Given the description of an element on the screen output the (x, y) to click on. 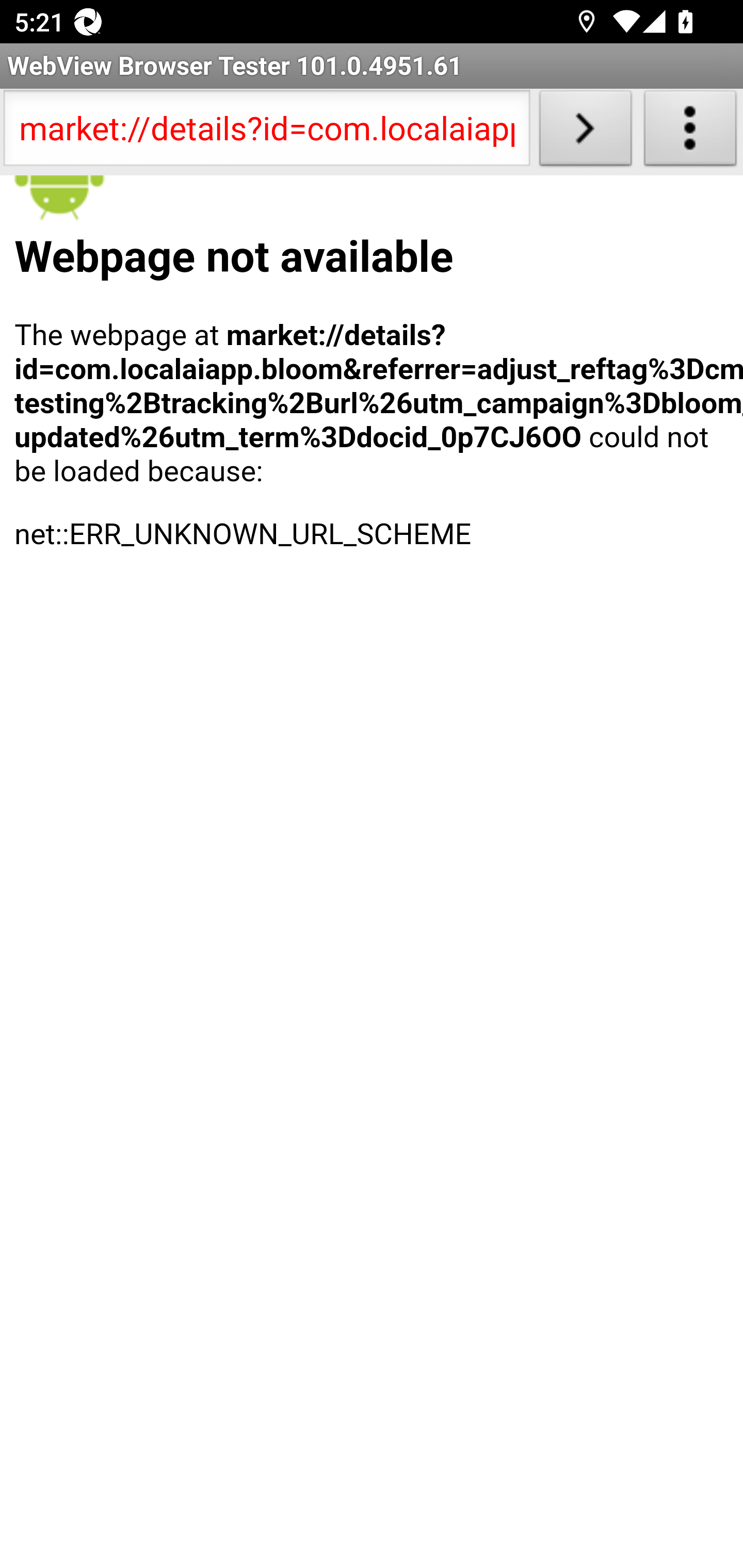
Load URL (585, 132)
About WebView (690, 132)
